Given the description of an element on the screen output the (x, y) to click on. 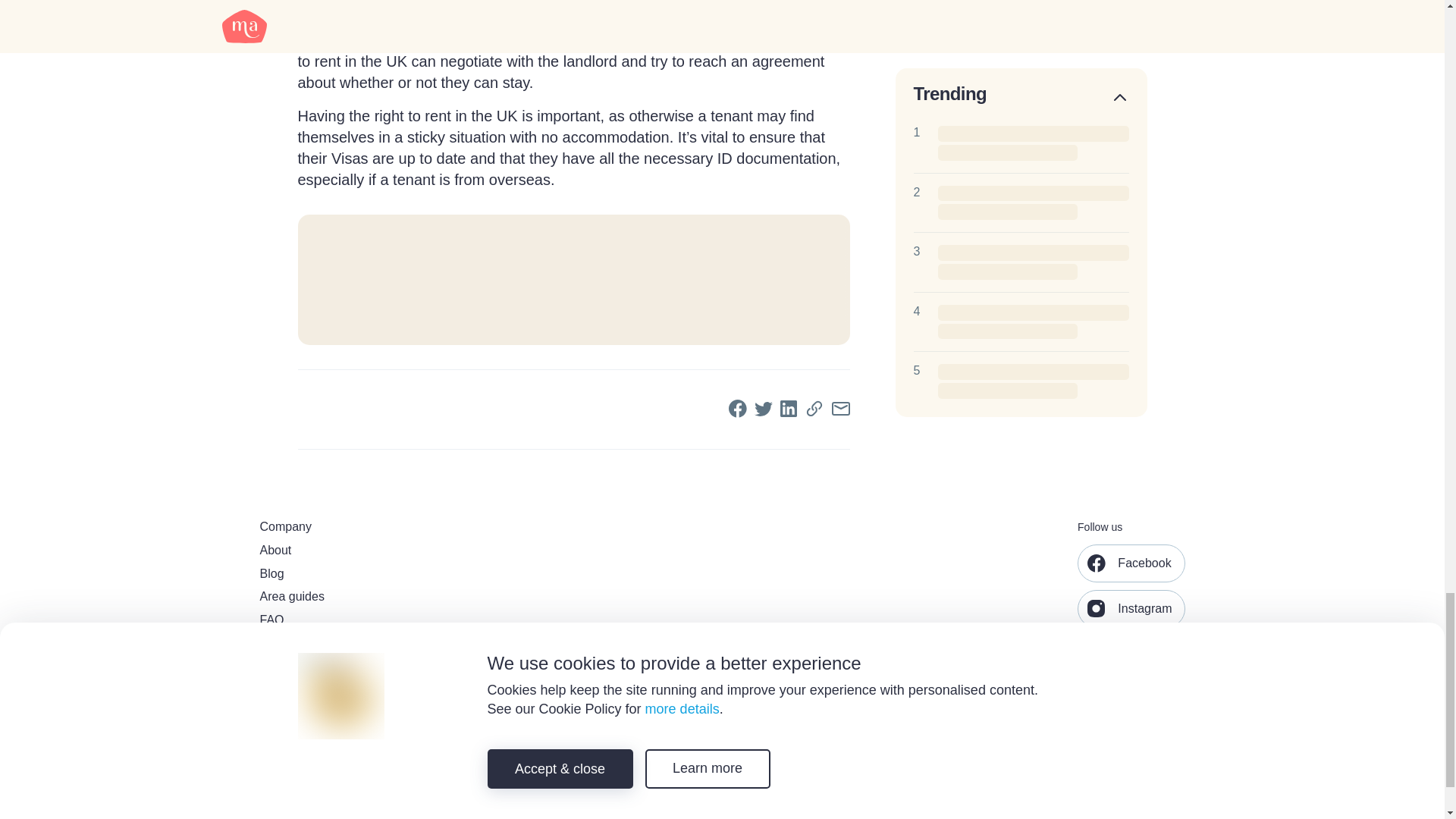
must give notice (454, 39)
Certificate repository (354, 667)
Facebook (1131, 563)
Instagram (1131, 608)
About (354, 550)
Blog (354, 574)
Twitter (1121, 654)
Area guides (354, 596)
Help Centre (354, 643)
FAQ (354, 620)
